Given the description of an element on the screen output the (x, y) to click on. 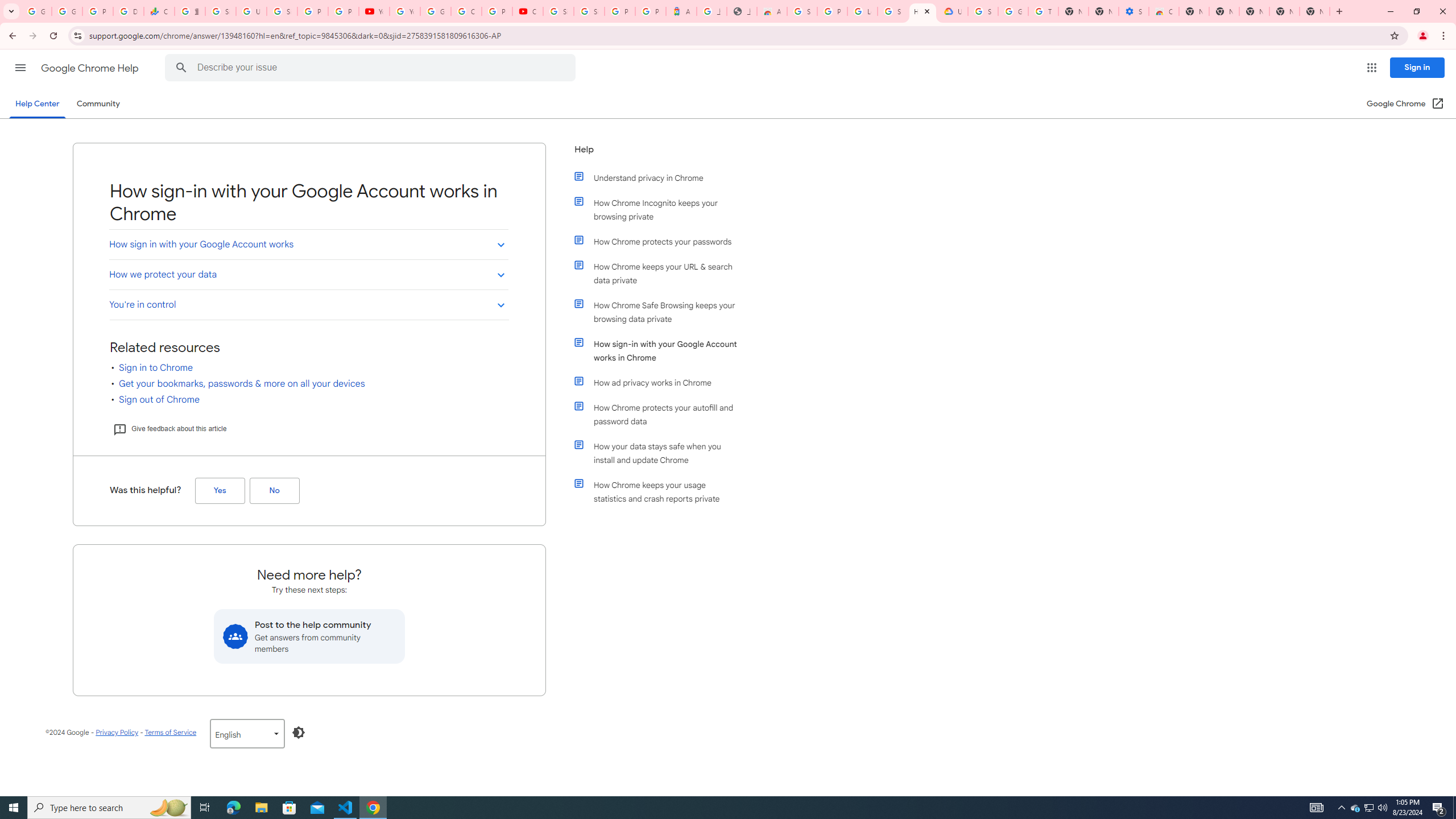
How Chrome protects your passwords (661, 241)
Describe your issue (371, 67)
How Chrome Safe Browsing keeps your browsing data private (661, 312)
Chrome Web Store - Accessibility extensions (1163, 11)
New Tab (1314, 11)
Sign in - Google Accounts (220, 11)
How your data stays safe when you install and update Chrome (661, 453)
Atour Hotel - Google hotels (681, 11)
